Given the description of an element on the screen output the (x, y) to click on. 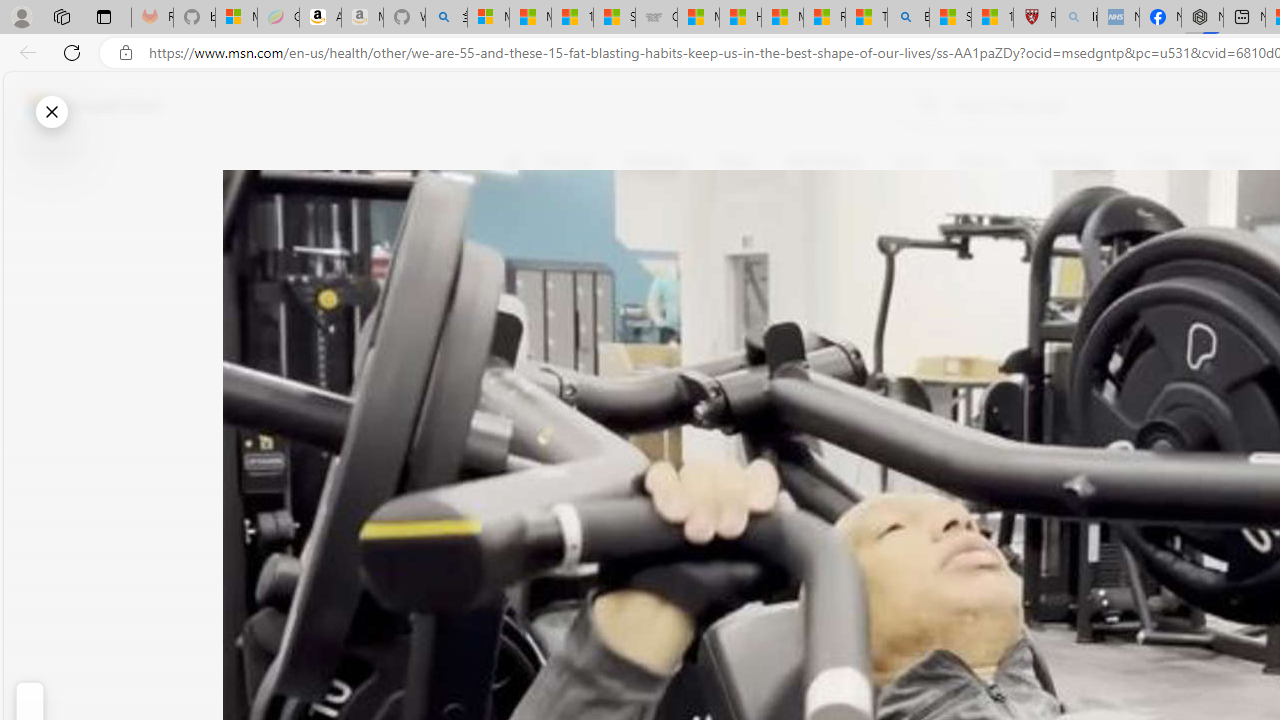
Share this story (525, 412)
Nordace - Nordace Siena Is Not An Ordinary Backpack (1201, 17)
Local (910, 162)
Recipes - MSN (823, 17)
Politics (1228, 162)
Technology (1071, 162)
Crime (1156, 162)
Crime (1156, 162)
Robert H. Shmerling, MD - Harvard Health (1033, 17)
